Given the description of an element on the screen output the (x, y) to click on. 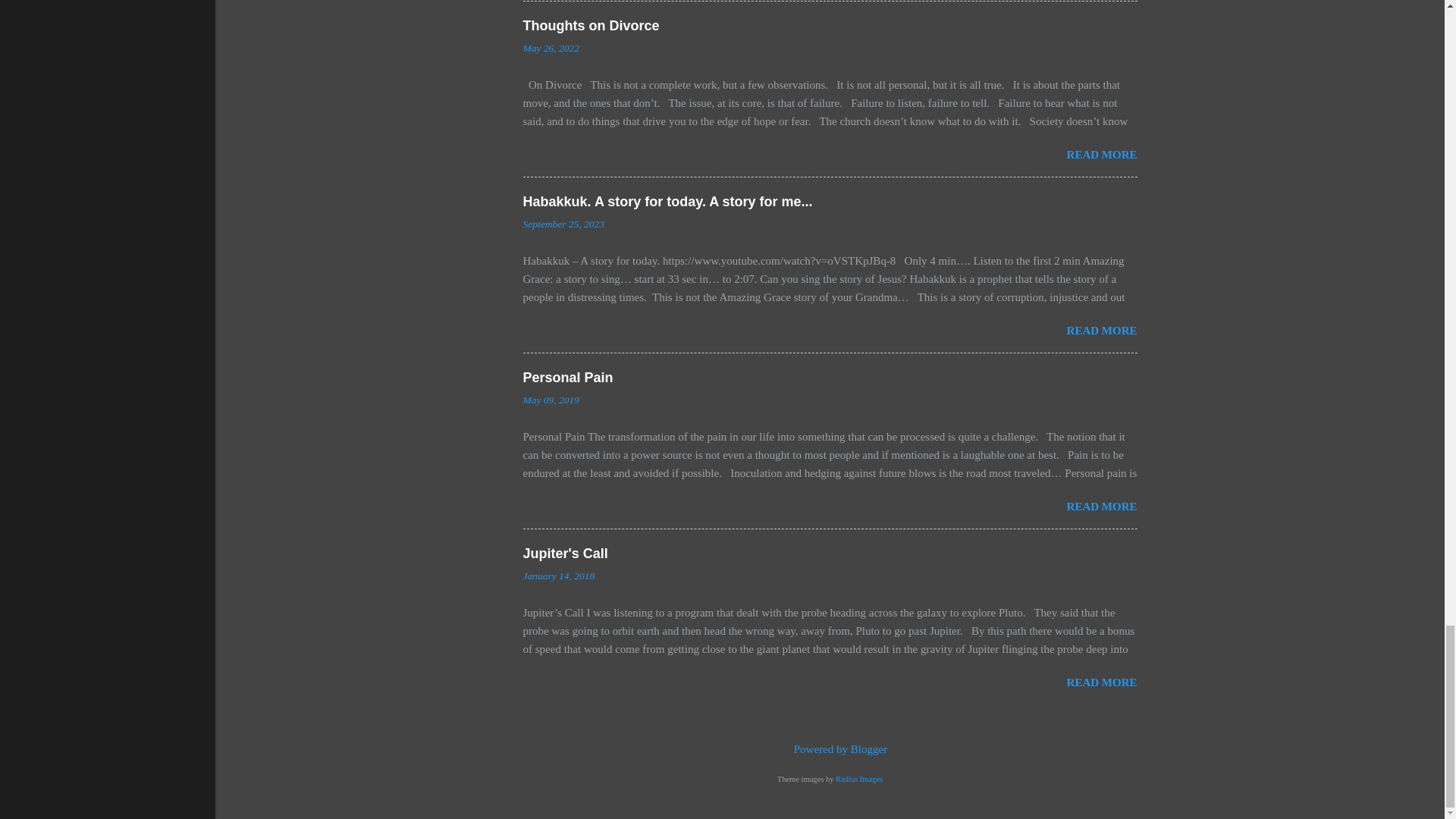
Thoughts on Divorce (590, 25)
May 26, 2022 (550, 48)
